Given the description of an element on the screen output the (x, y) to click on. 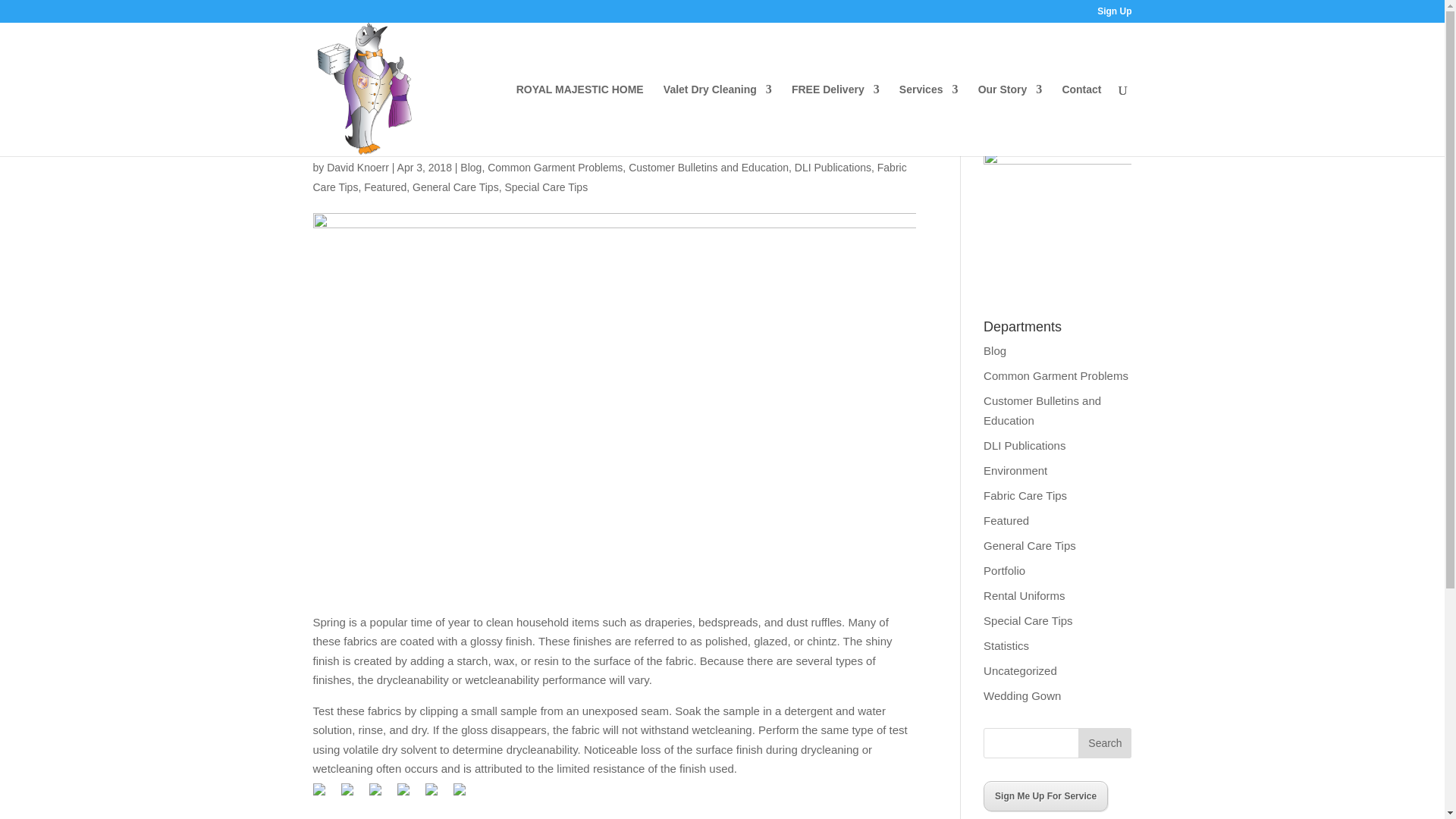
Valet Dry Cleaning (717, 120)
FREE Delivery (835, 120)
Posts by David Knoerr (357, 167)
Our Story (1010, 120)
Search (1104, 743)
Share on Reddit (380, 794)
Sign Up (1114, 14)
Share on Twitter (352, 794)
Share on Linkedin (436, 794)
Pin it with Pinterest (409, 794)
